Given the description of an element on the screen output the (x, y) to click on. 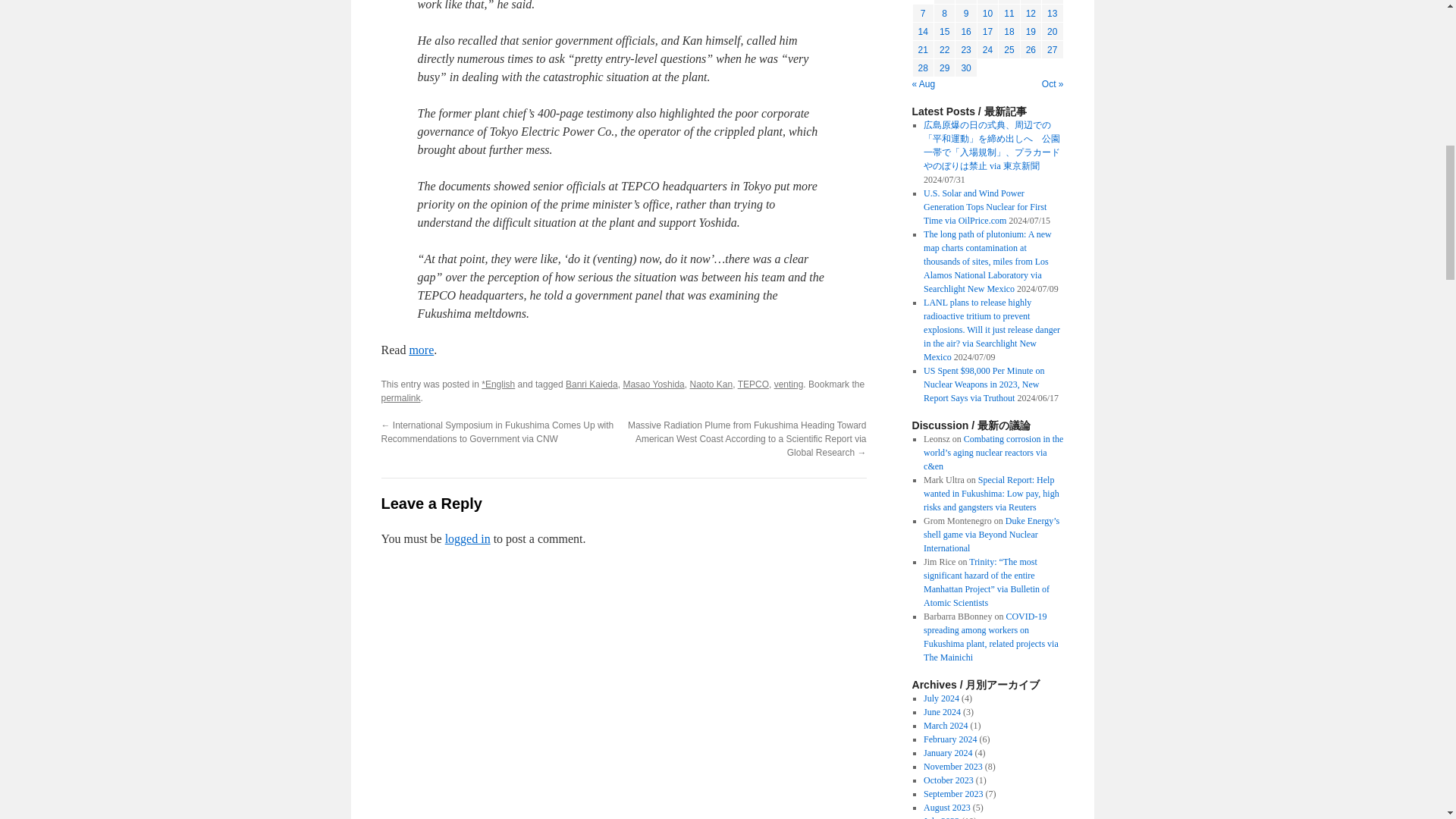
more (421, 349)
Naoto Kan (710, 384)
Banri Kaieda (591, 384)
venting (788, 384)
Masao Yoshida (653, 384)
permalink (400, 398)
TEPCO (753, 384)
logged in (467, 538)
